Given the description of an element on the screen output the (x, y) to click on. 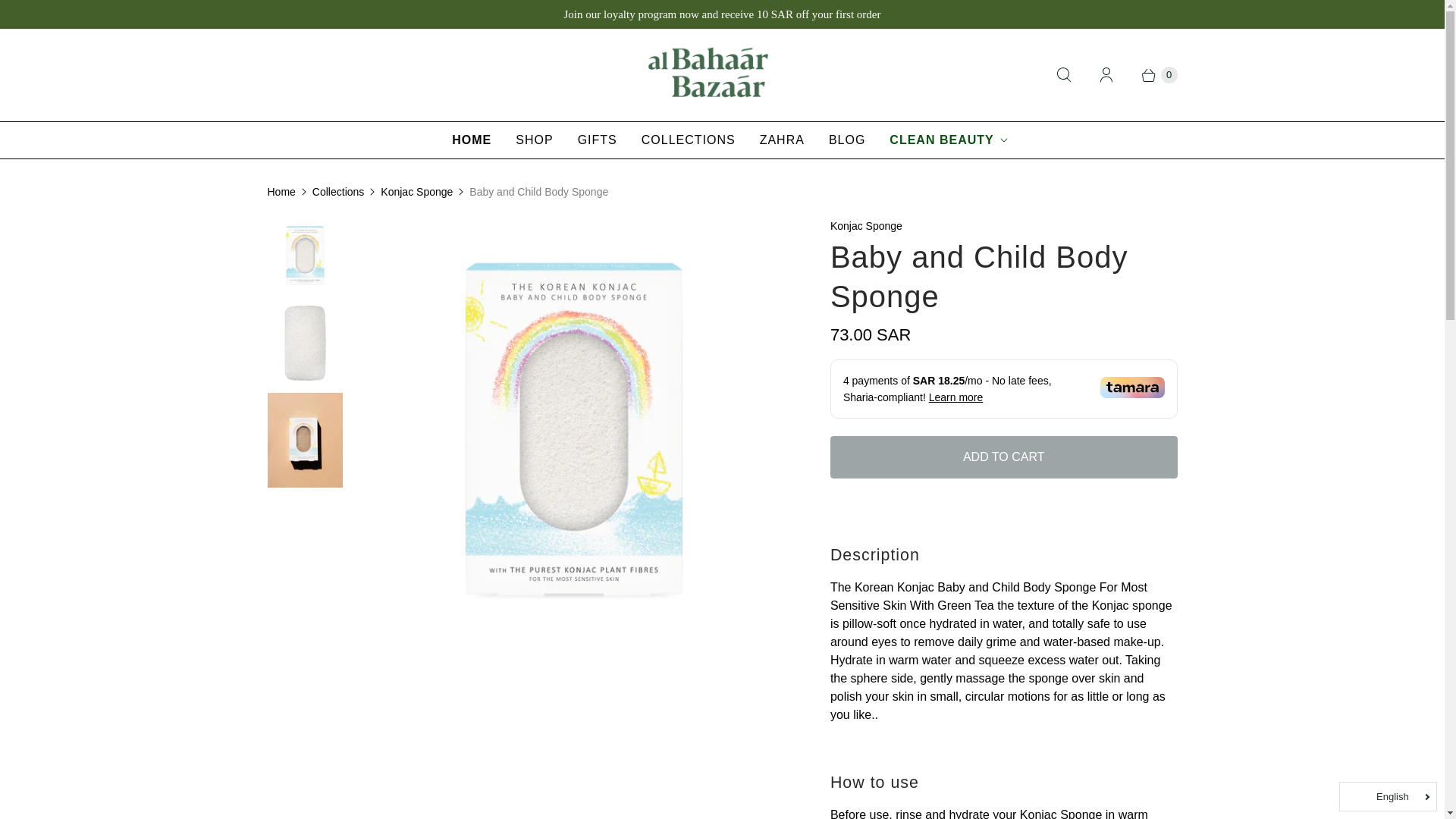
English (1388, 796)
0 (1151, 74)
Home (280, 191)
Konjac Sponge (416, 191)
BLOG (846, 140)
GIFTS (597, 140)
COLLECTIONS (688, 140)
ZAHRA (782, 140)
Collections (338, 191)
CLEAN BEAUTY (948, 140)
HOME (471, 140)
SHOP (533, 140)
